Given the description of an element on the screen output the (x, y) to click on. 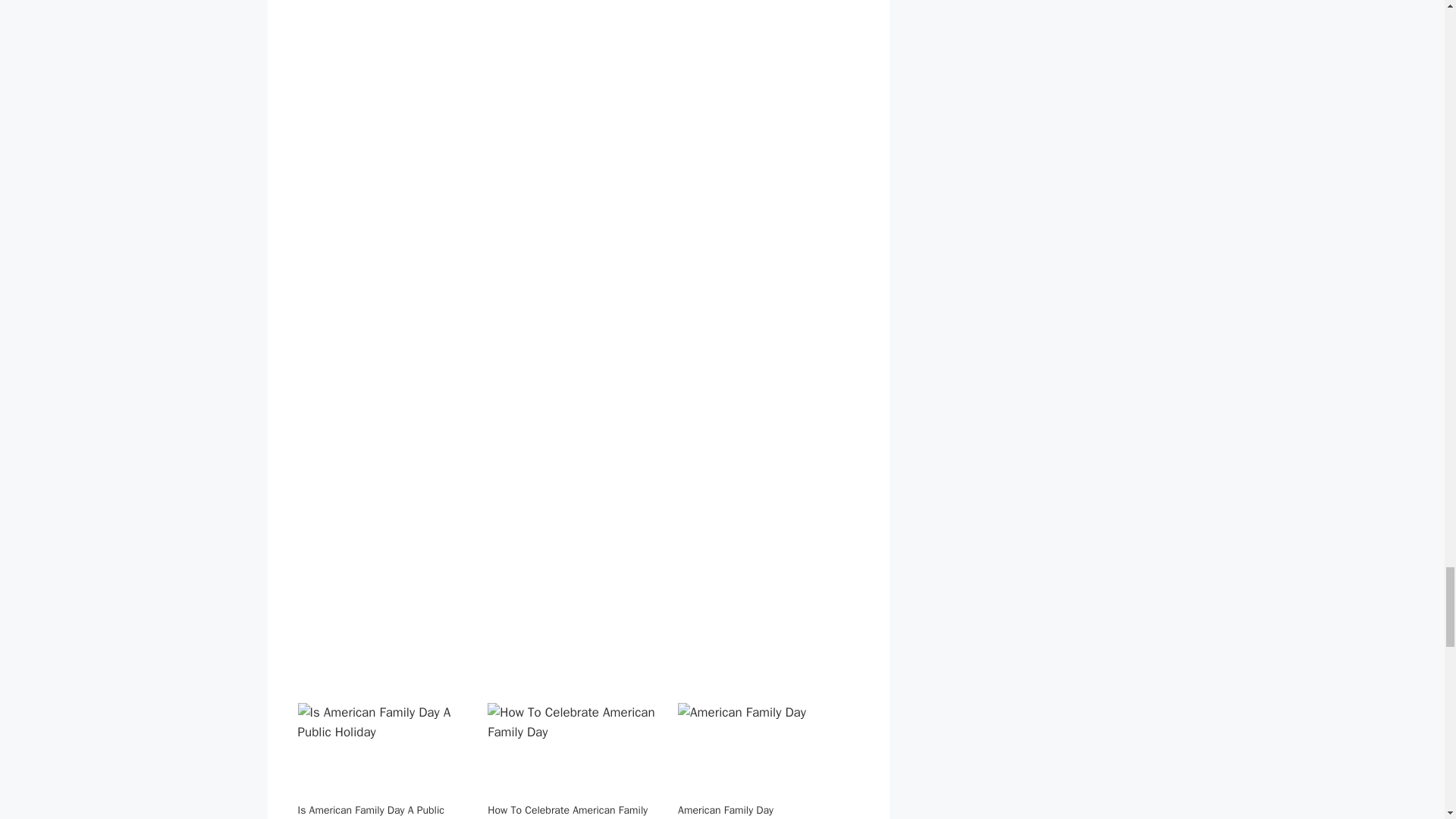
Is American Family Day A Public Holiday (370, 811)
American Family Day (765, 752)
How To Celebrate American Family Day (574, 752)
Is American Family Day A Public Holiday (384, 752)
How To Celebrate American Family Day (567, 811)
Is American Family Day A Public Holiday (370, 811)
